Given the description of an element on the screen output the (x, y) to click on. 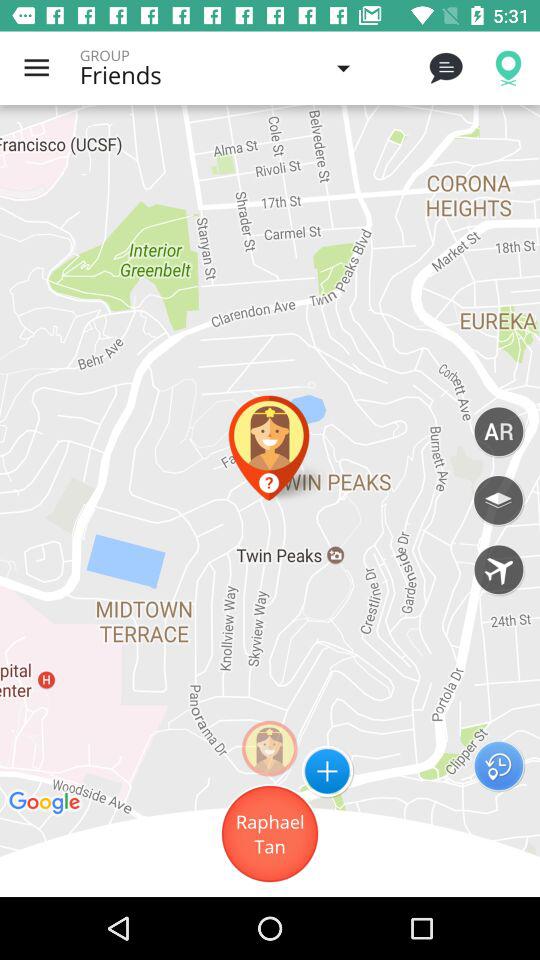
go to ar options (498, 431)
